Given the description of an element on the screen output the (x, y) to click on. 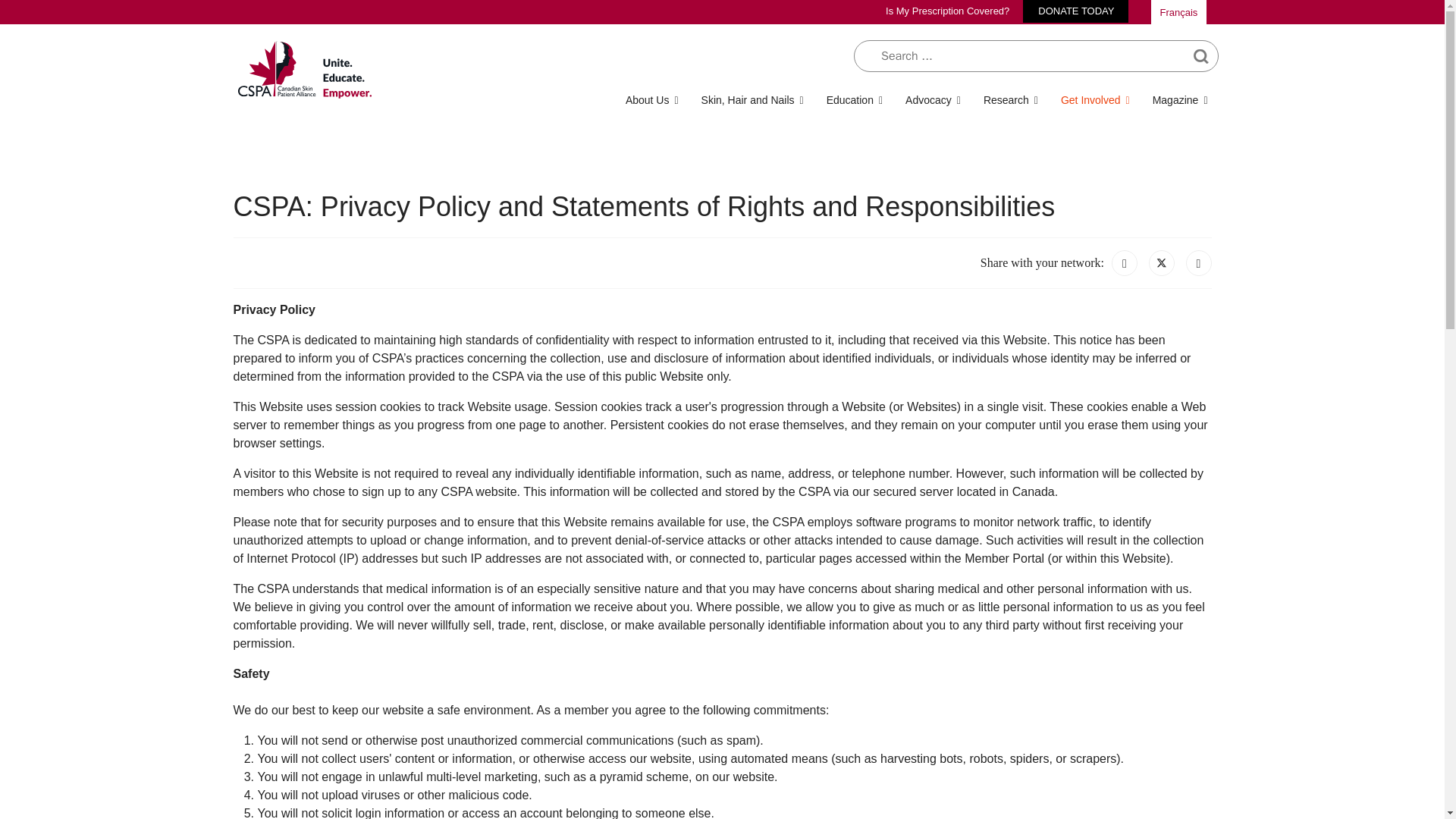
LinkedIn (1198, 263)
Facebook (1124, 263)
